Given the description of an element on the screen output the (x, y) to click on. 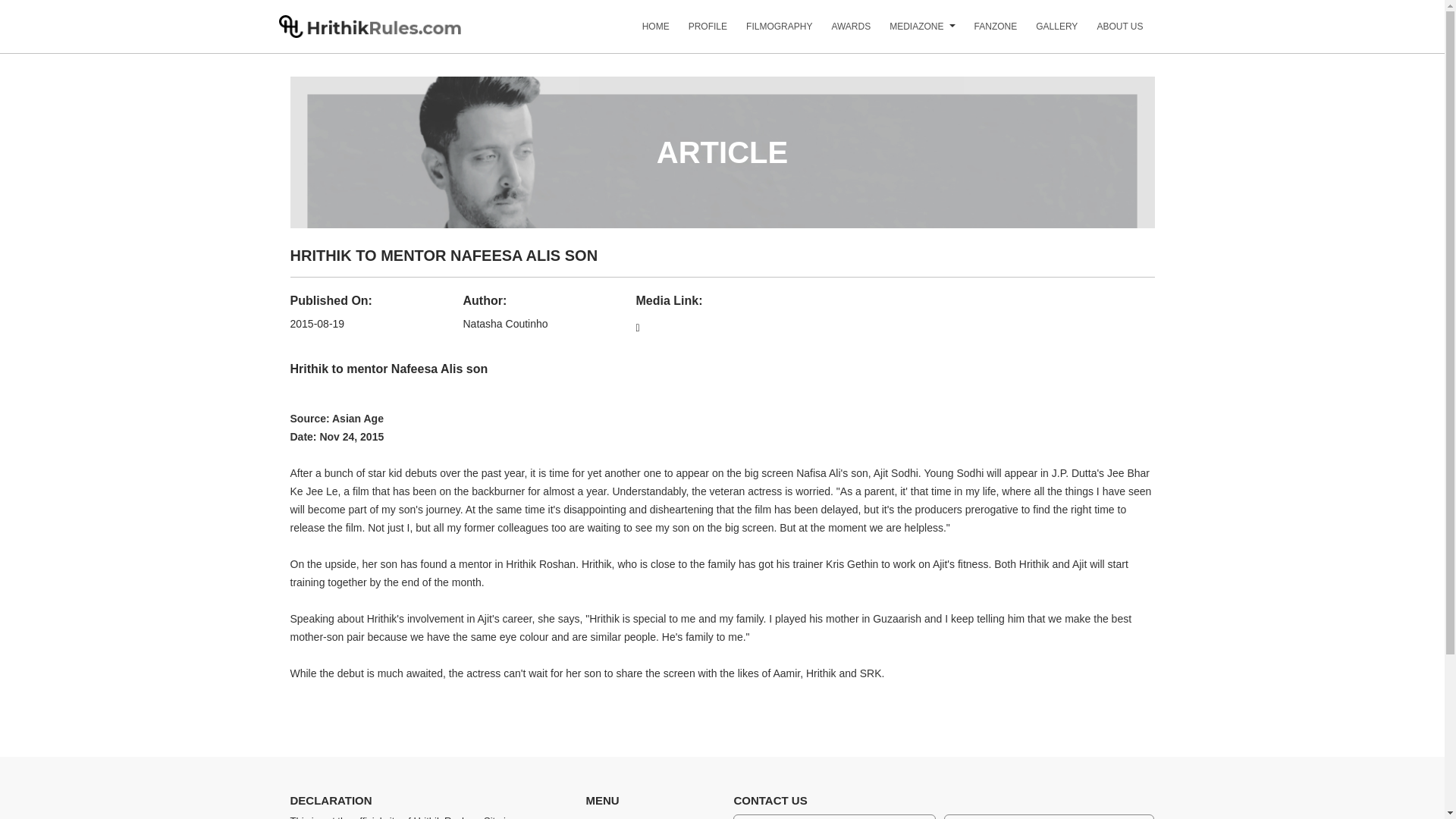
HOME (646, 31)
ABOUT US (1109, 31)
GALLERY (1046, 31)
FANZONE (986, 31)
MEDIAZONE (906, 31)
FILMOGRAPHY (769, 31)
PROFILE (697, 31)
AWARDS (841, 31)
